Given the description of an element on the screen output the (x, y) to click on. 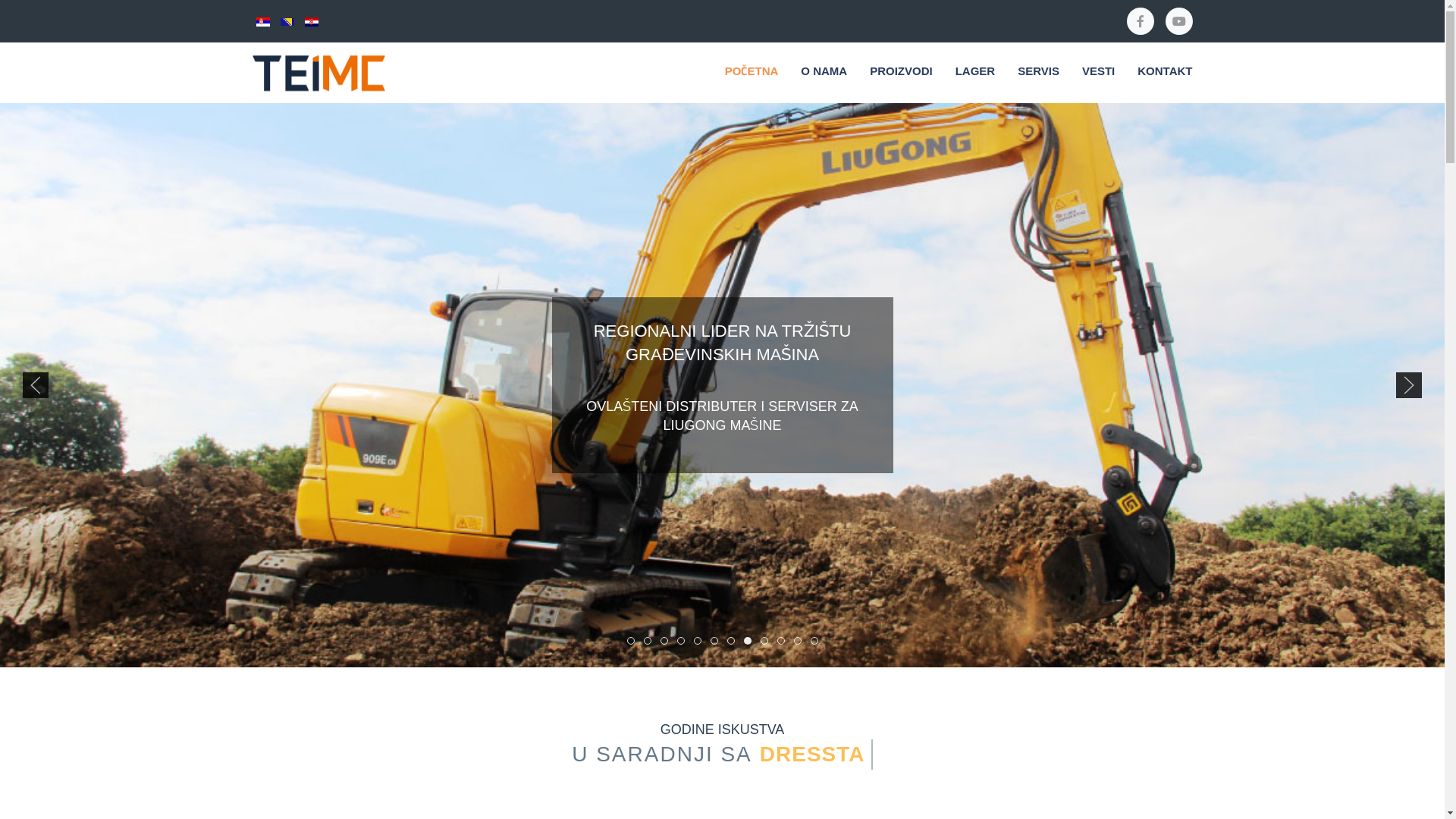
KONTAKT Element type: text (1164, 72)
SERVIS Element type: text (1038, 72)
Srpski latinica (Srbija) Element type: hover (262, 21)
O NAMA Element type: text (823, 72)
LAGER Element type: text (975, 72)
VESTI Element type: text (1098, 72)
Bosanski (Bosnia and Herzegovina) Element type: hover (287, 21)
Hrvatski (Hrvatska) Element type: hover (311, 21)
PROIZVODI Element type: text (901, 72)
